Given the description of an element on the screen output the (x, y) to click on. 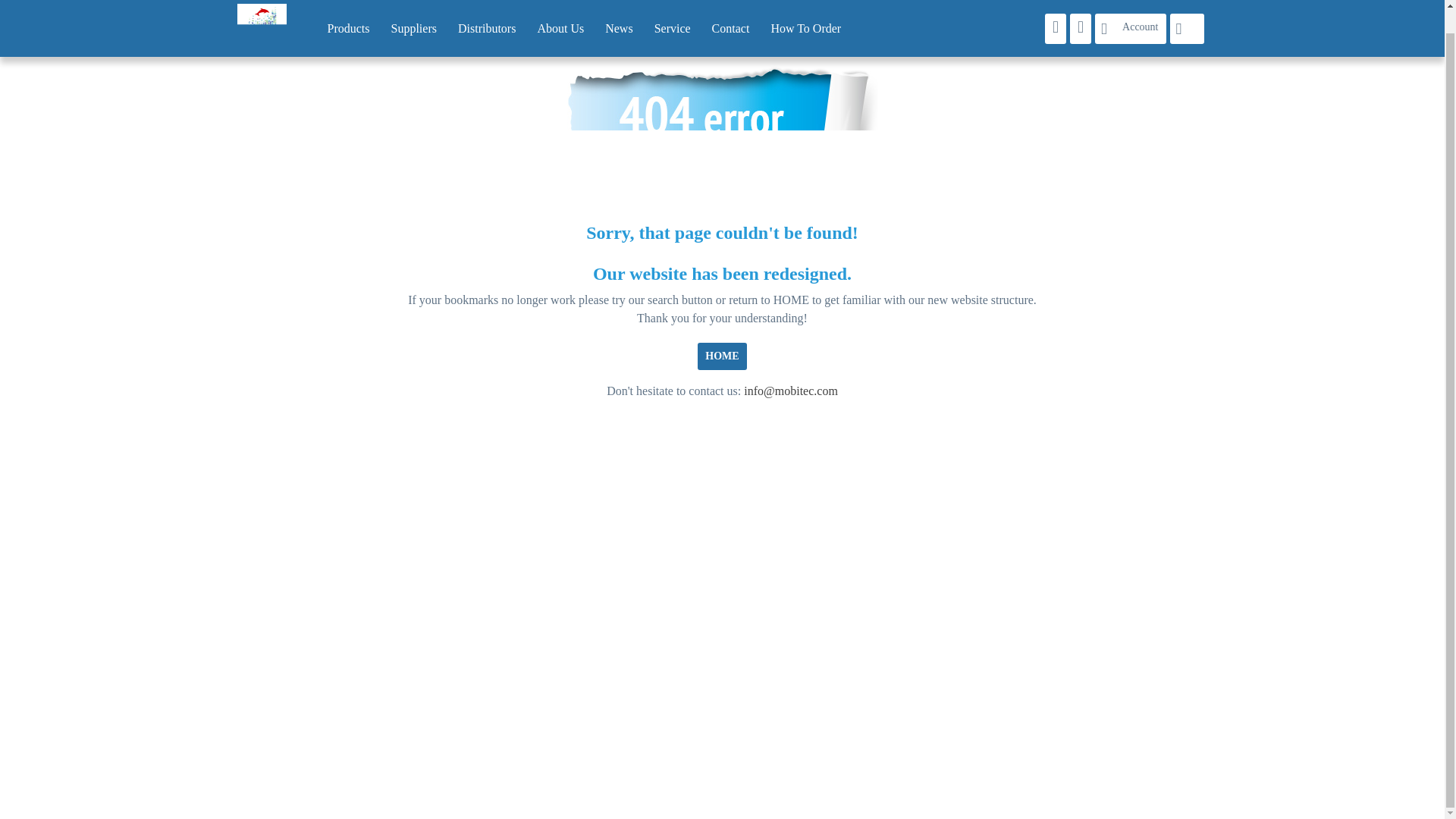
Service (672, 8)
Products (348, 8)
Suppliers (413, 8)
MoBiTec Molecular Biotechnology - Switch to homepage (255, 7)
About Us (559, 8)
Distributors (485, 8)
Products (348, 8)
Suppliers (413, 8)
News (618, 8)
